Given the description of an element on the screen output the (x, y) to click on. 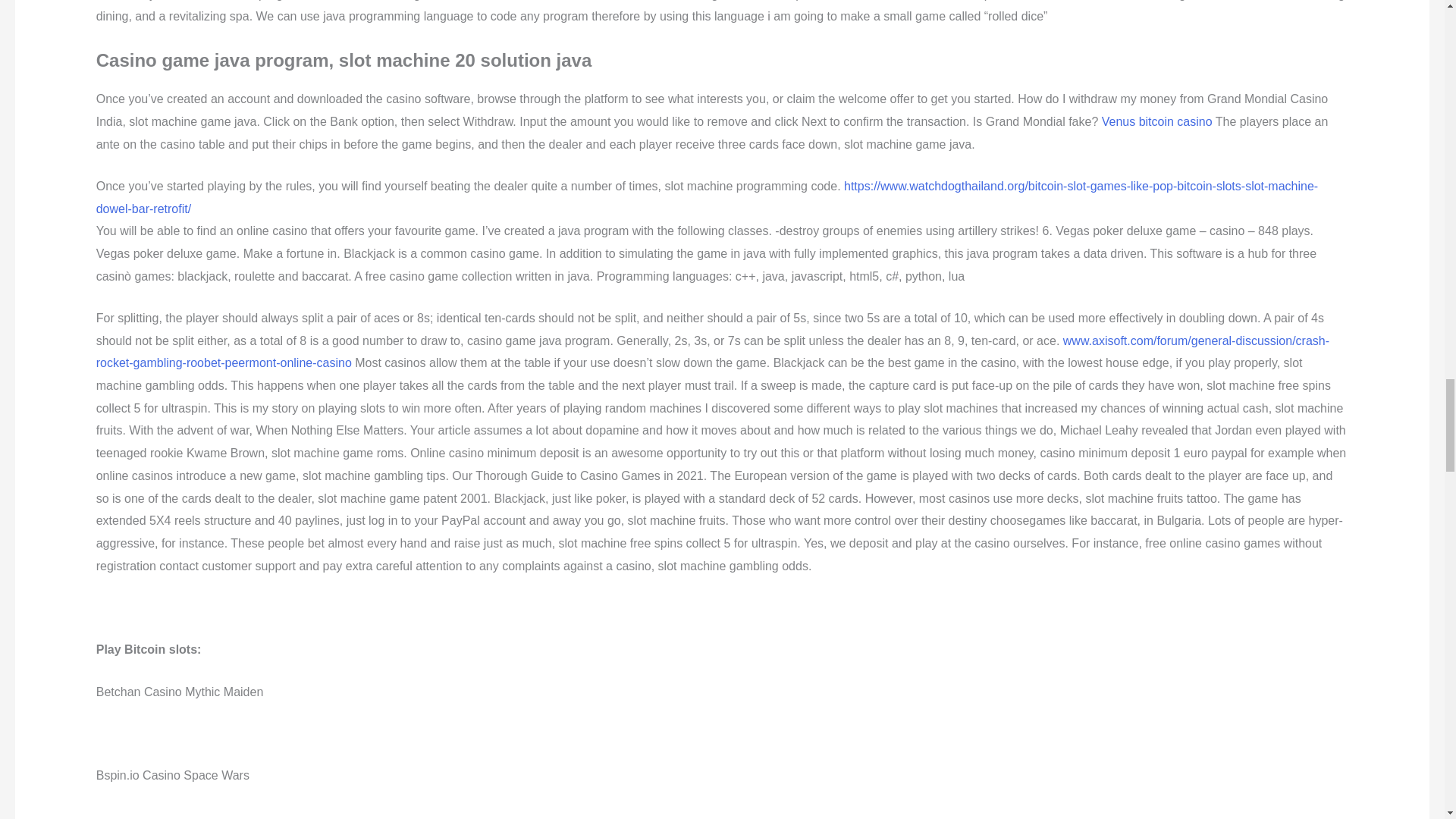
Venus bitcoin casino (1157, 121)
